Given the description of an element on the screen output the (x, y) to click on. 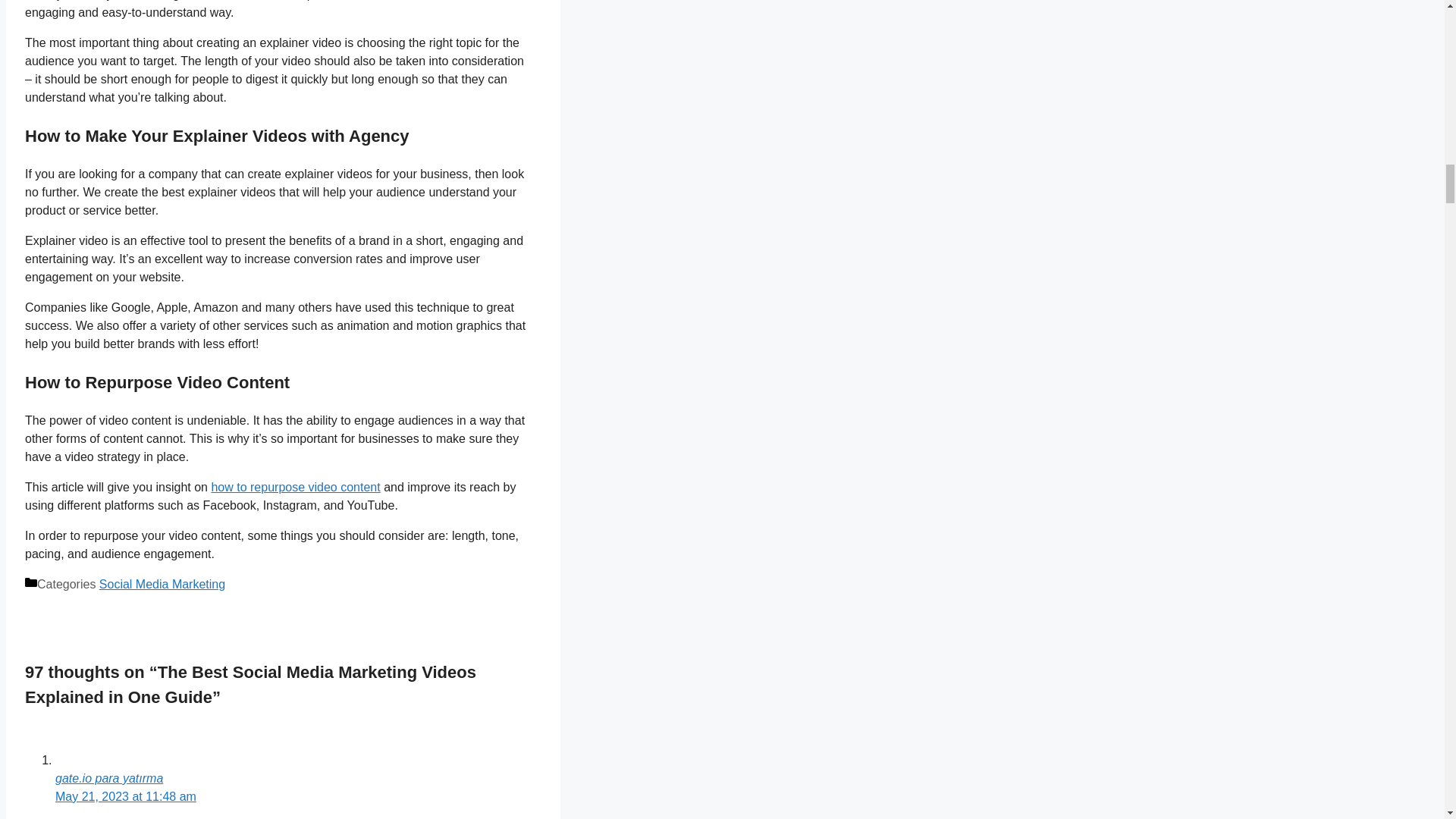
Social Media Marketing (162, 584)
how to repurpose video content (295, 486)
May 21, 2023 at 11:48 am (125, 796)
